Given the description of an element on the screen output the (x, y) to click on. 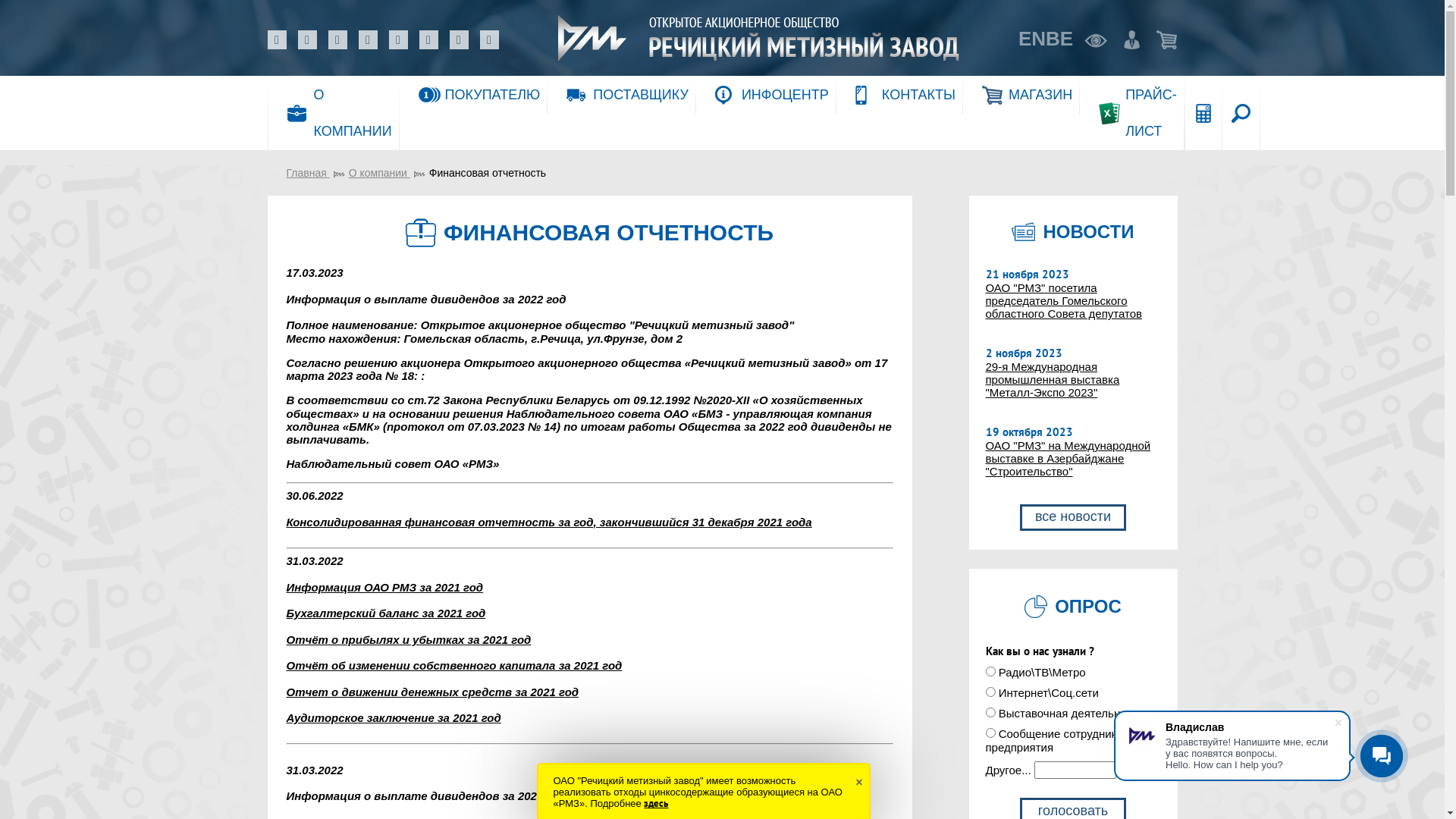
Twitter Element type: hover (488, 39)
Facebook Element type: hover (306, 39)
BE Element type: text (1059, 39)
Odnoklassniki Element type: hover (336, 39)
EN Element type: text (1031, 39)
VK Element type: hover (275, 39)
TikTok Element type: hover (427, 39)
Instagram Element type: hover (366, 39)
